Given the description of an element on the screen output the (x, y) to click on. 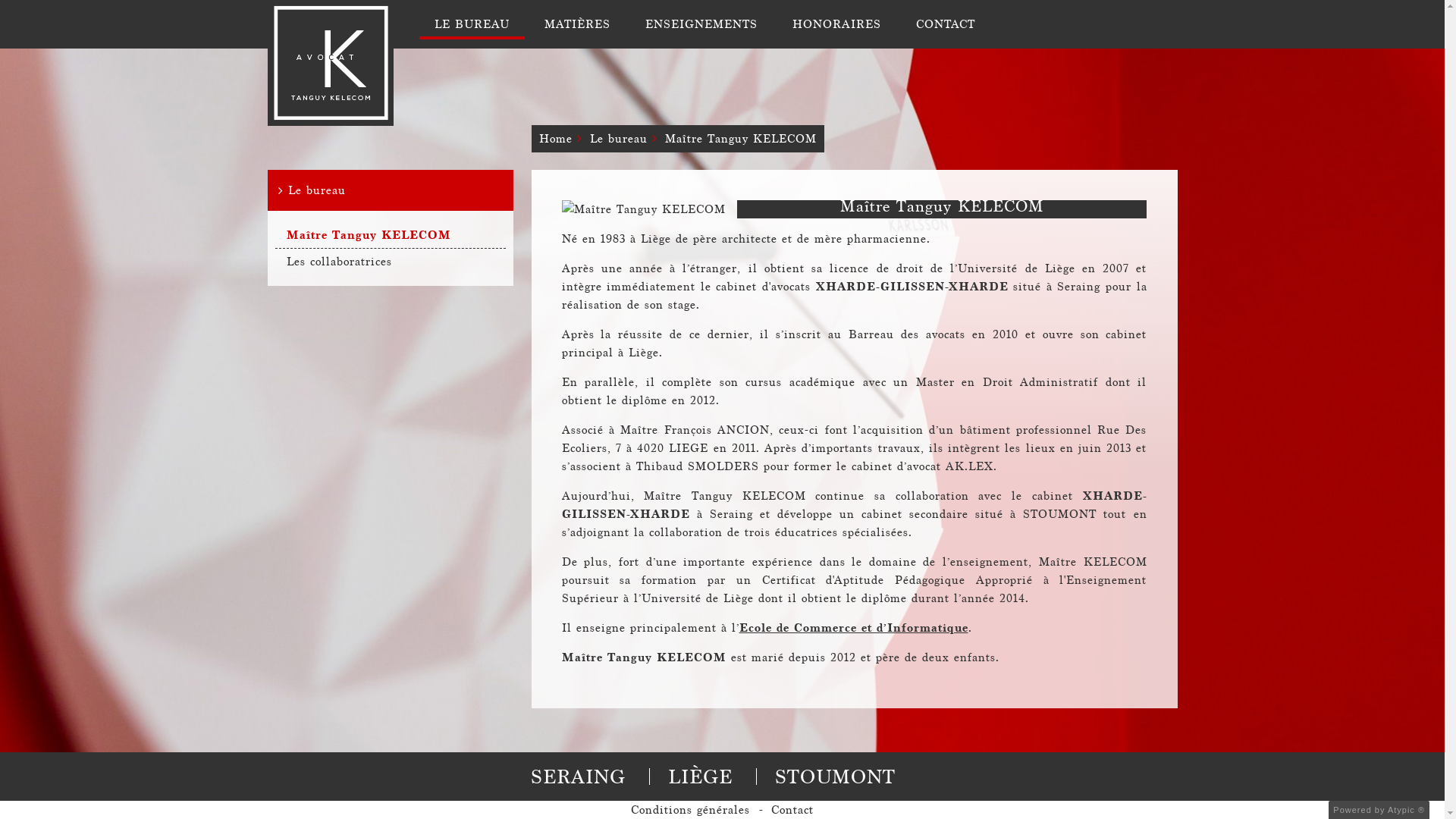
Les collaboratrices Element type: text (389, 260)
CONTACT Element type: text (945, 24)
ENSEIGNEMENTS Element type: text (700, 24)
Le bureau Element type: text (618, 138)
STOUMONT Element type: text (835, 777)
HONORAIRES Element type: text (835, 24)
SERAING Element type: text (577, 777)
Contact Element type: text (792, 809)
Home Element type: text (554, 138)
Le bureau Element type: text (389, 189)
LE BUREAU Element type: text (471, 24)
